Given the description of an element on the screen output the (x, y) to click on. 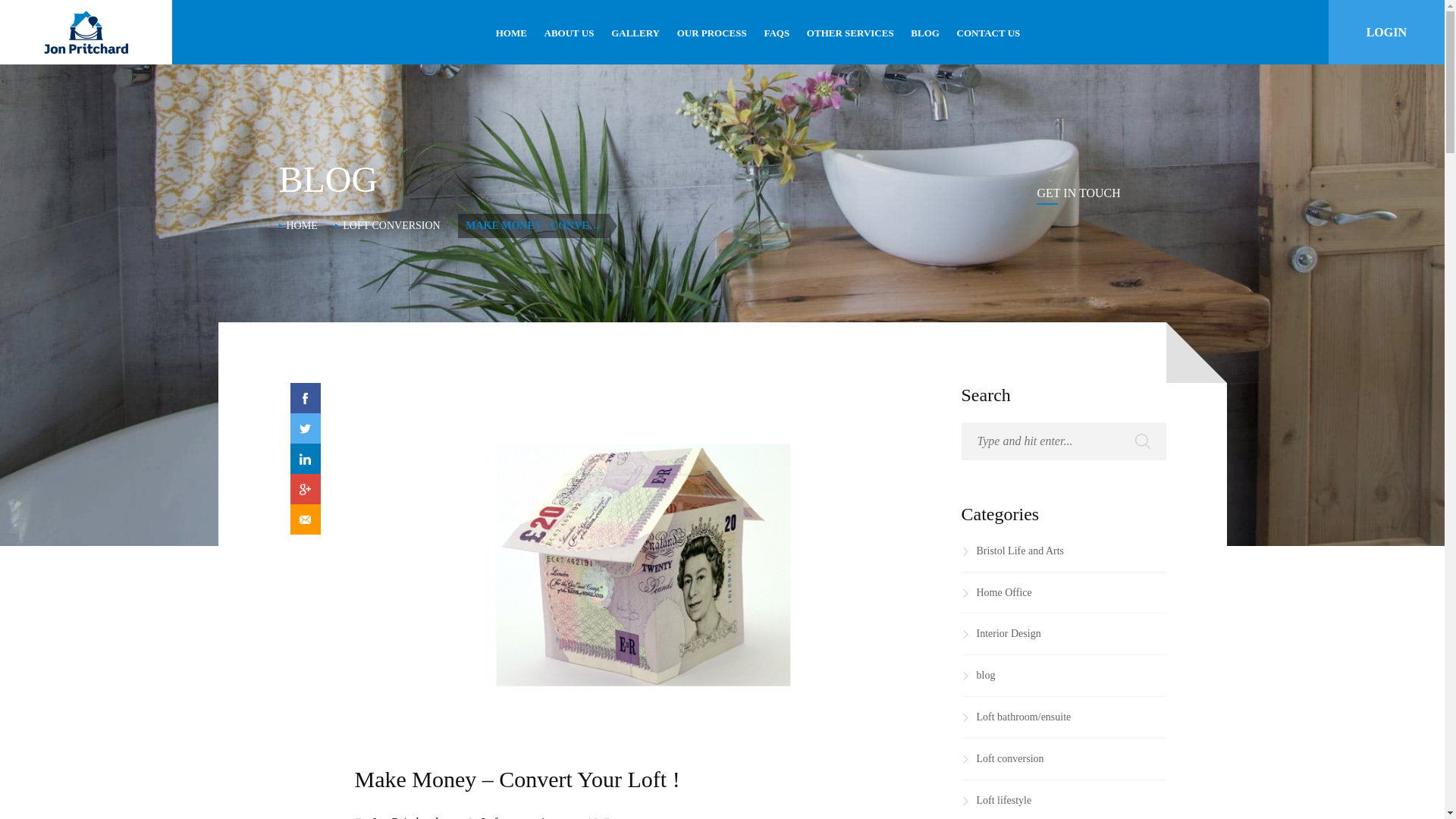
HOME (510, 32)
GET IN TOUCH (1077, 192)
Share on LinkedIn (304, 458)
BLOG (925, 32)
LOFT CONVERSION (390, 225)
Share by Email (304, 519)
GALLERY (635, 32)
Share on Twitter (304, 428)
HOME (301, 225)
OUR PROCESS (711, 32)
OTHER SERVICES (850, 32)
Share on Facebook (304, 398)
Share on Google Plus (304, 489)
FAQS (776, 32)
ABOUT US (569, 32)
